Given the description of an element on the screen output the (x, y) to click on. 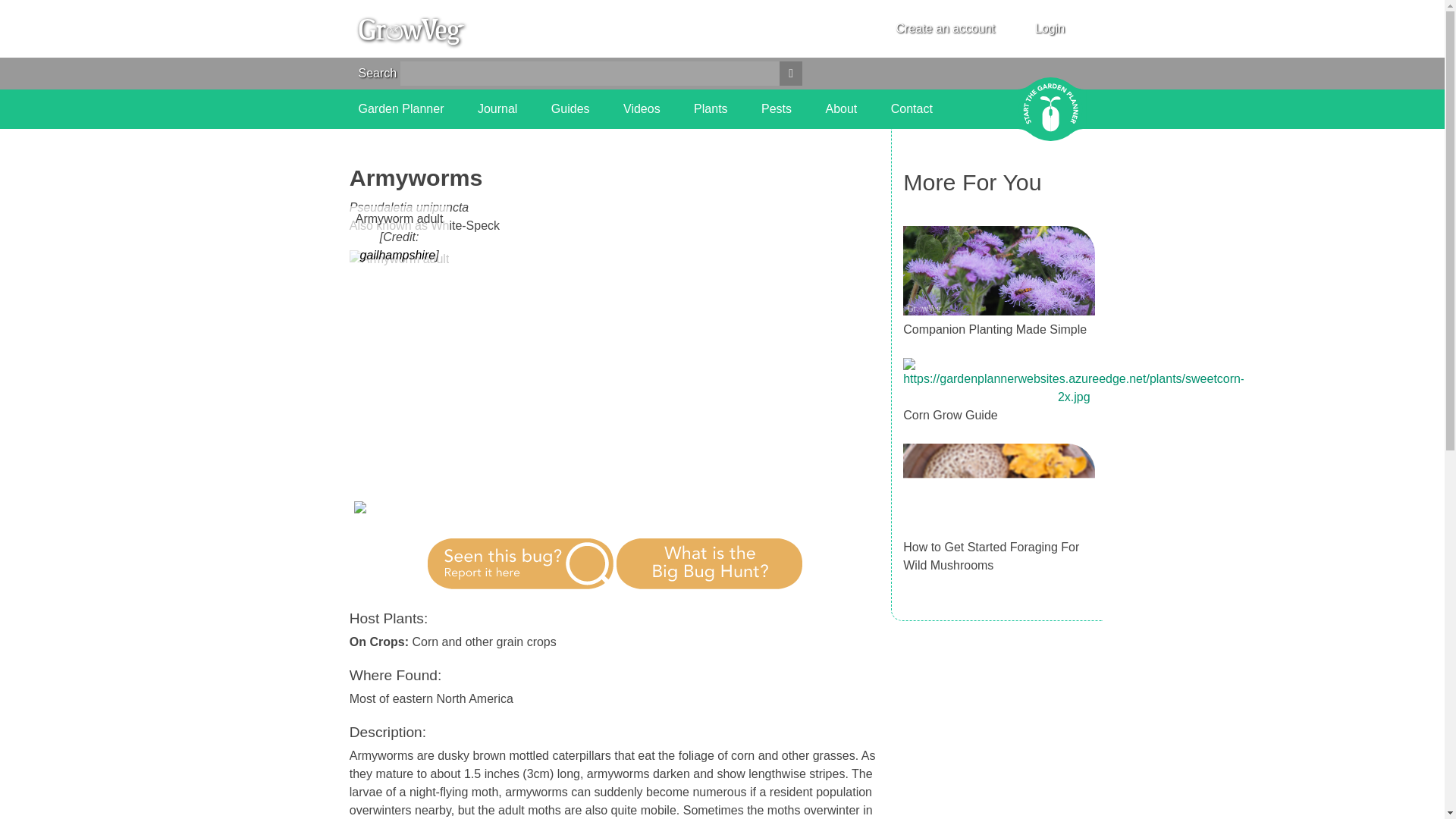
Corn Grow Guide (949, 414)
Garden Planner (401, 108)
Companion Planting Made Simple (994, 328)
Videos (642, 108)
gailhampshire (397, 254)
Create an account (944, 28)
Contact (912, 108)
Login (1049, 28)
Journal (496, 108)
How to Get Started Foraging For Wild Mushrooms (990, 555)
